Given the description of an element on the screen output the (x, y) to click on. 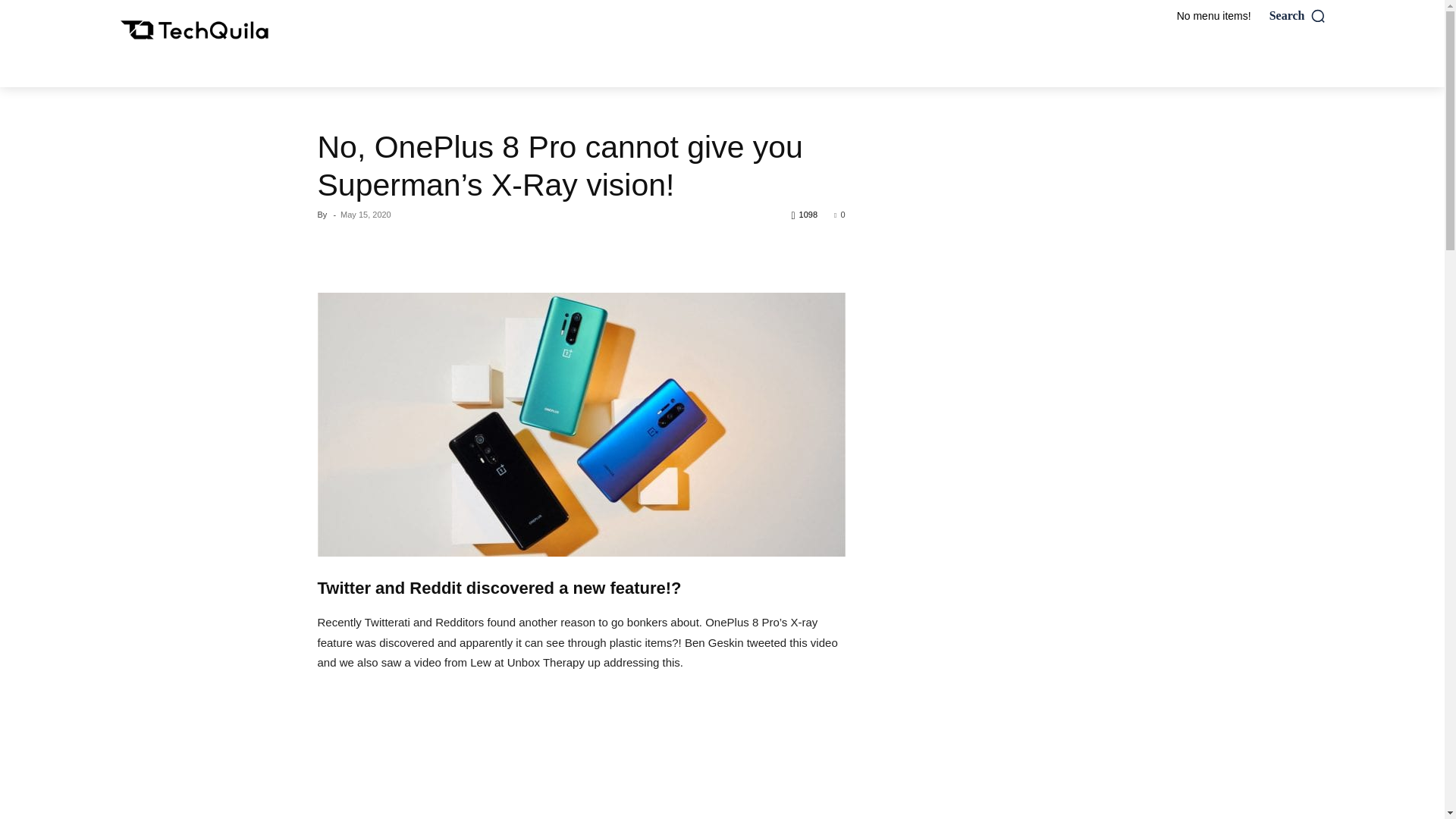
0 (839, 214)
OnePlus 8 Pro X-Ray Vision Mode Uncovered... (580, 755)
Search (1297, 15)
